Given the description of an element on the screen output the (x, y) to click on. 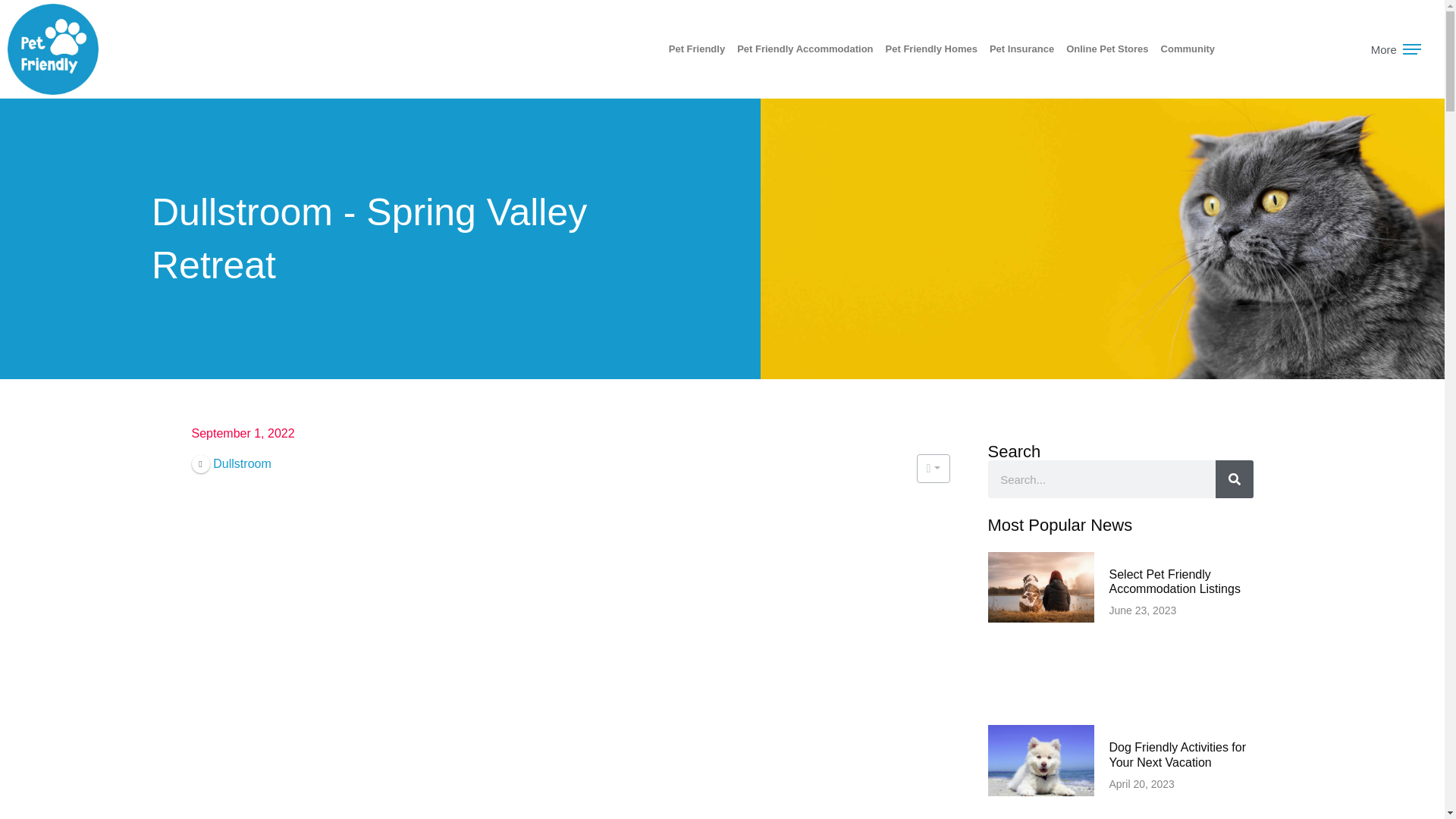
Community (1187, 49)
Pet Friendly Accommodation (804, 49)
Pet Insurance (1021, 49)
Pet Friendly (696, 49)
Pet Friendly Homes (931, 49)
Dullstroom (230, 462)
Online Pet Stores (1106, 49)
